Given the description of an element on the screen output the (x, y) to click on. 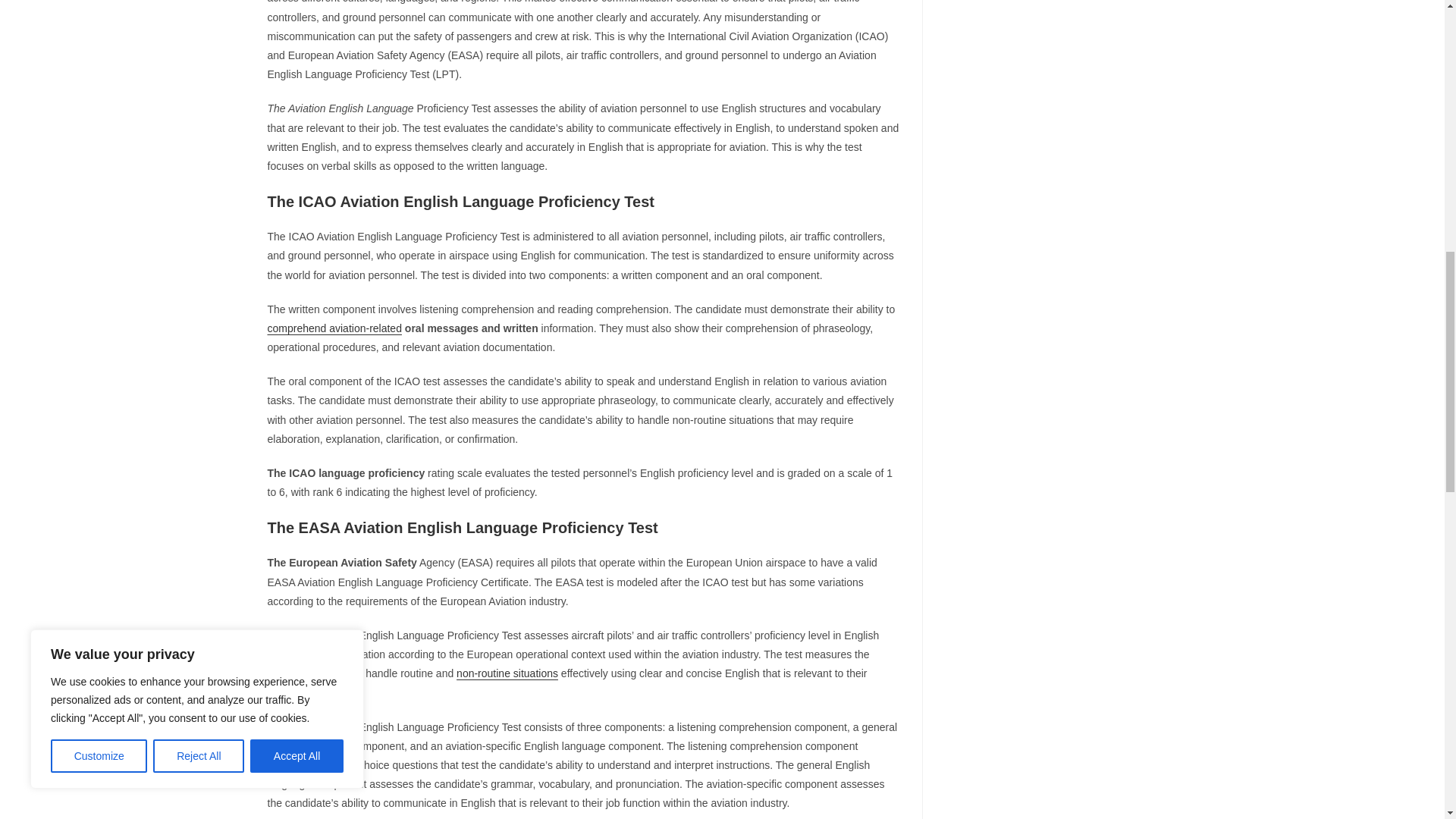
comprehend aviation-related (333, 328)
non-routine situations (507, 673)
